Given the description of an element on the screen output the (x, y) to click on. 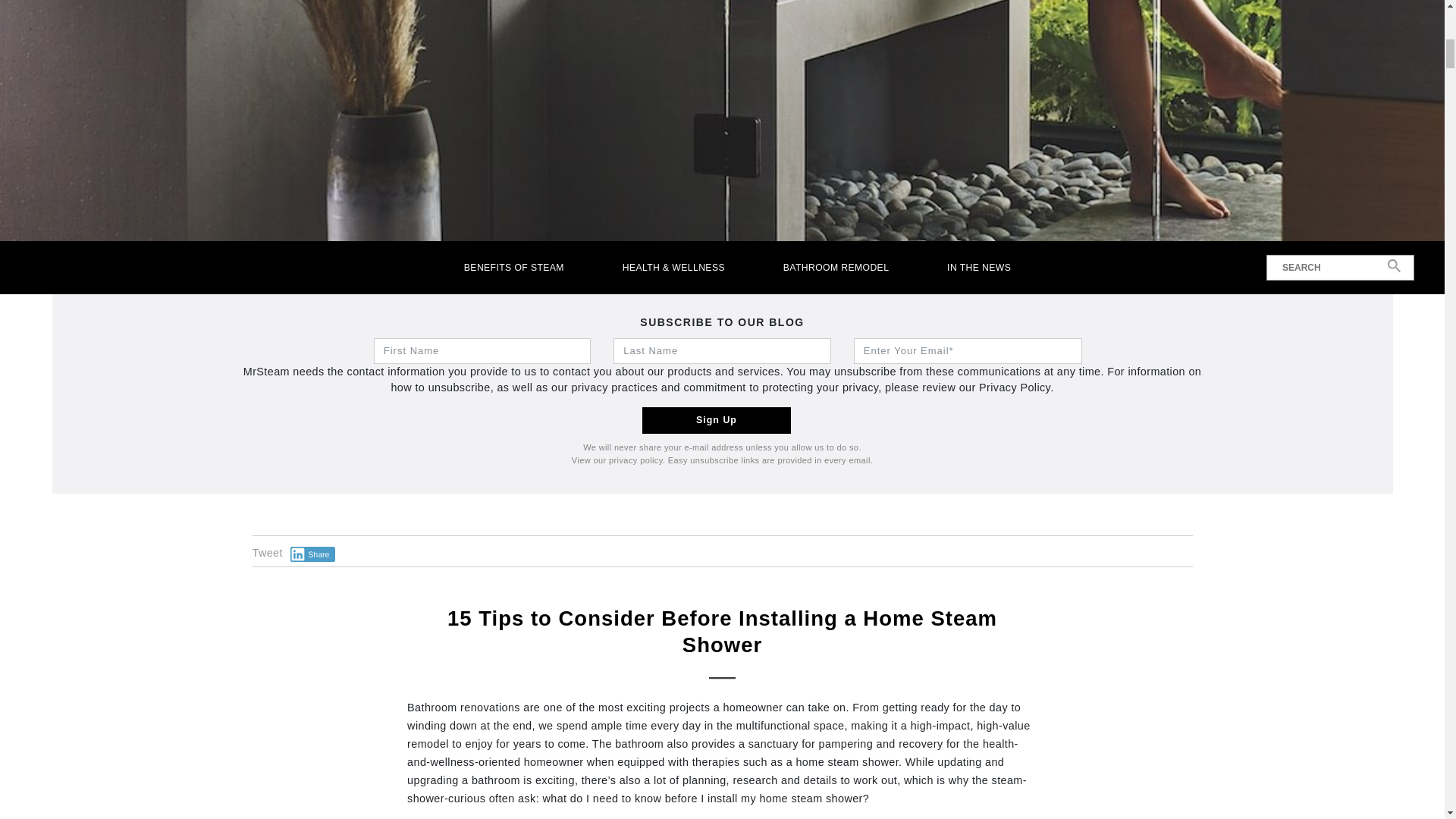
IN THE NEWS (979, 267)
BENEFITS OF STEAM (512, 267)
BATHROOM REMODEL (835, 267)
Sign Up (716, 420)
